Given the description of an element on the screen output the (x, y) to click on. 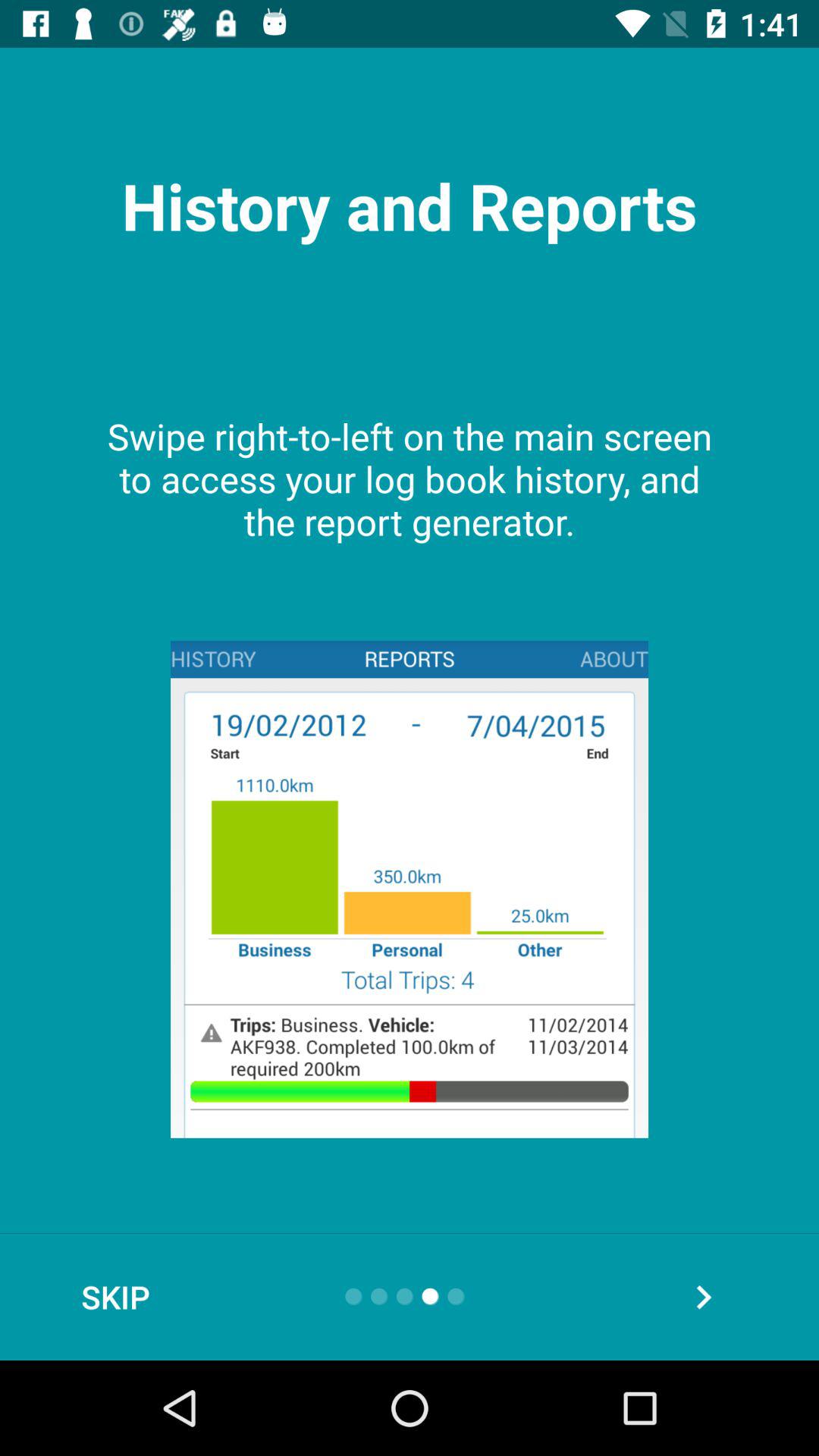
scroll to the skip (114, 1296)
